Given the description of an element on the screen output the (x, y) to click on. 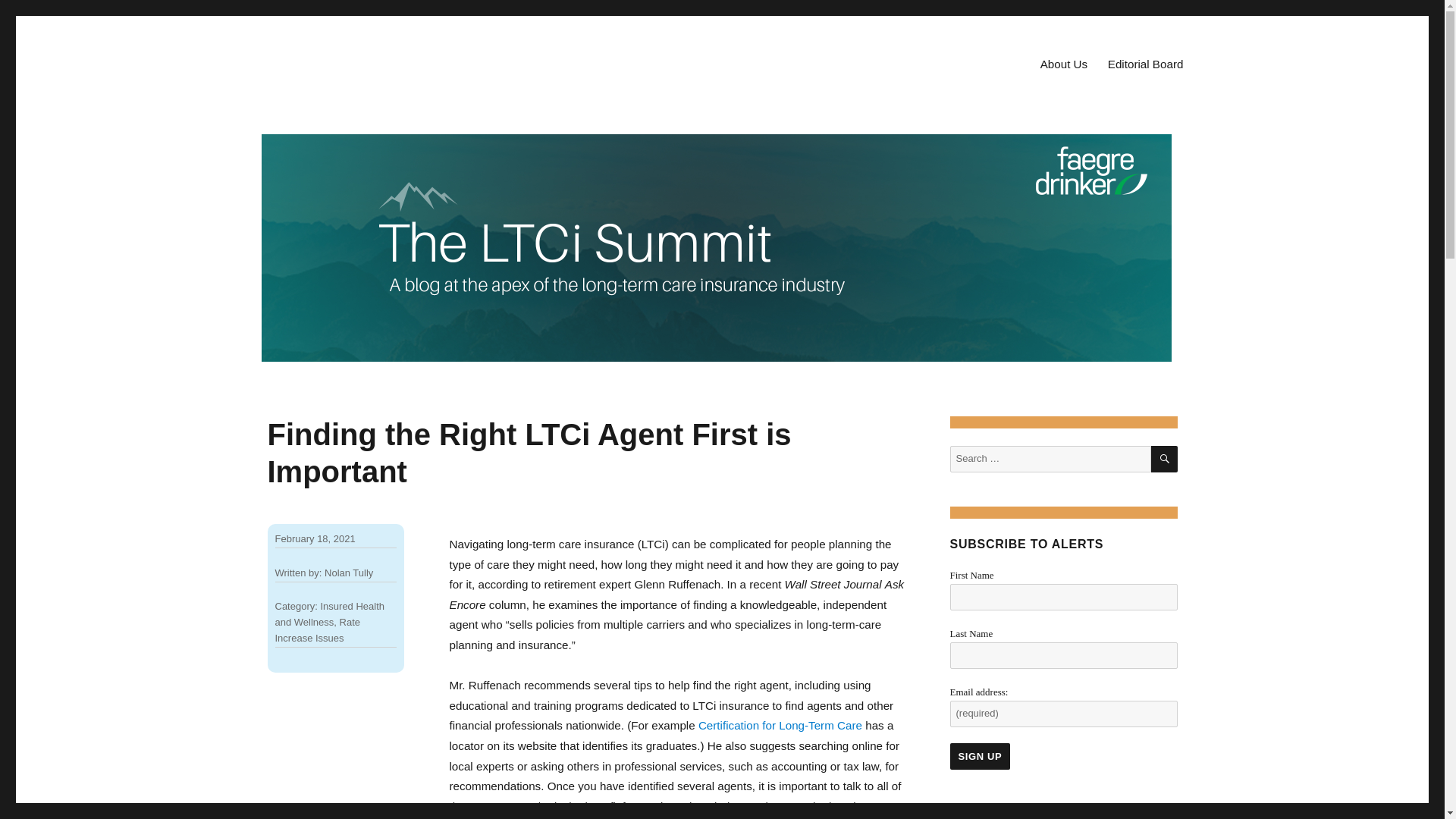
Rate Increase Issues (317, 629)
Editorial Board (1144, 64)
Nolan Tully (348, 572)
SEARCH (1164, 458)
About Us (1063, 64)
Certification for Long-Term Care (779, 725)
LTCi Summit (790, 209)
Sign up (979, 755)
Insured Health and Wellness (329, 614)
Posts by Nolan Tully (348, 572)
